Given the description of an element on the screen output the (x, y) to click on. 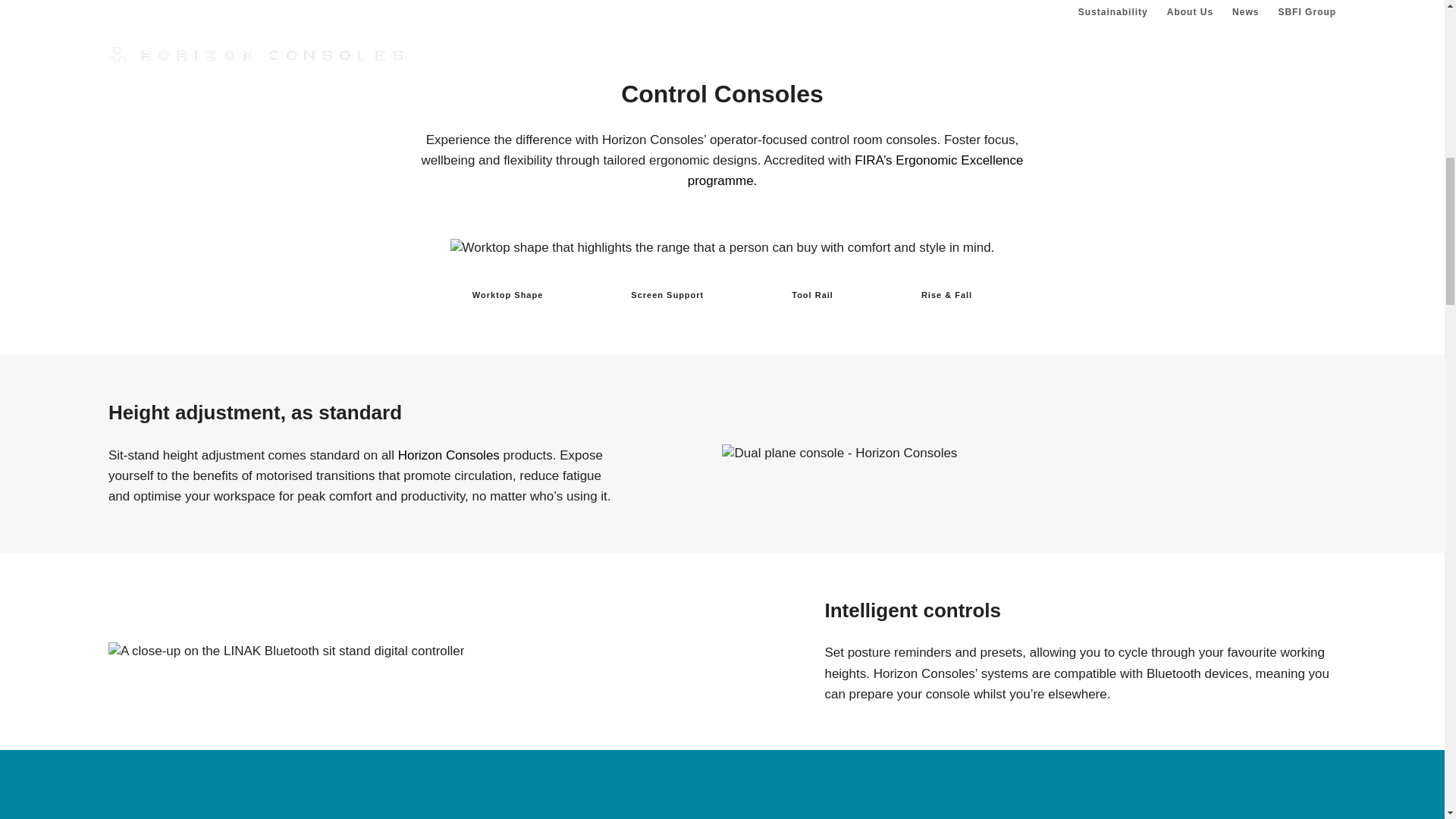
CONSOLE DESIGN FEATURE WORKTOP SHAPE (721, 248)
Worktop Shape (507, 295)
linak (285, 651)
DUAL PLANE console (839, 453)
Horizon Consoles (448, 454)
Tool Rail (812, 295)
Screen Support (667, 295)
